Given the description of an element on the screen output the (x, y) to click on. 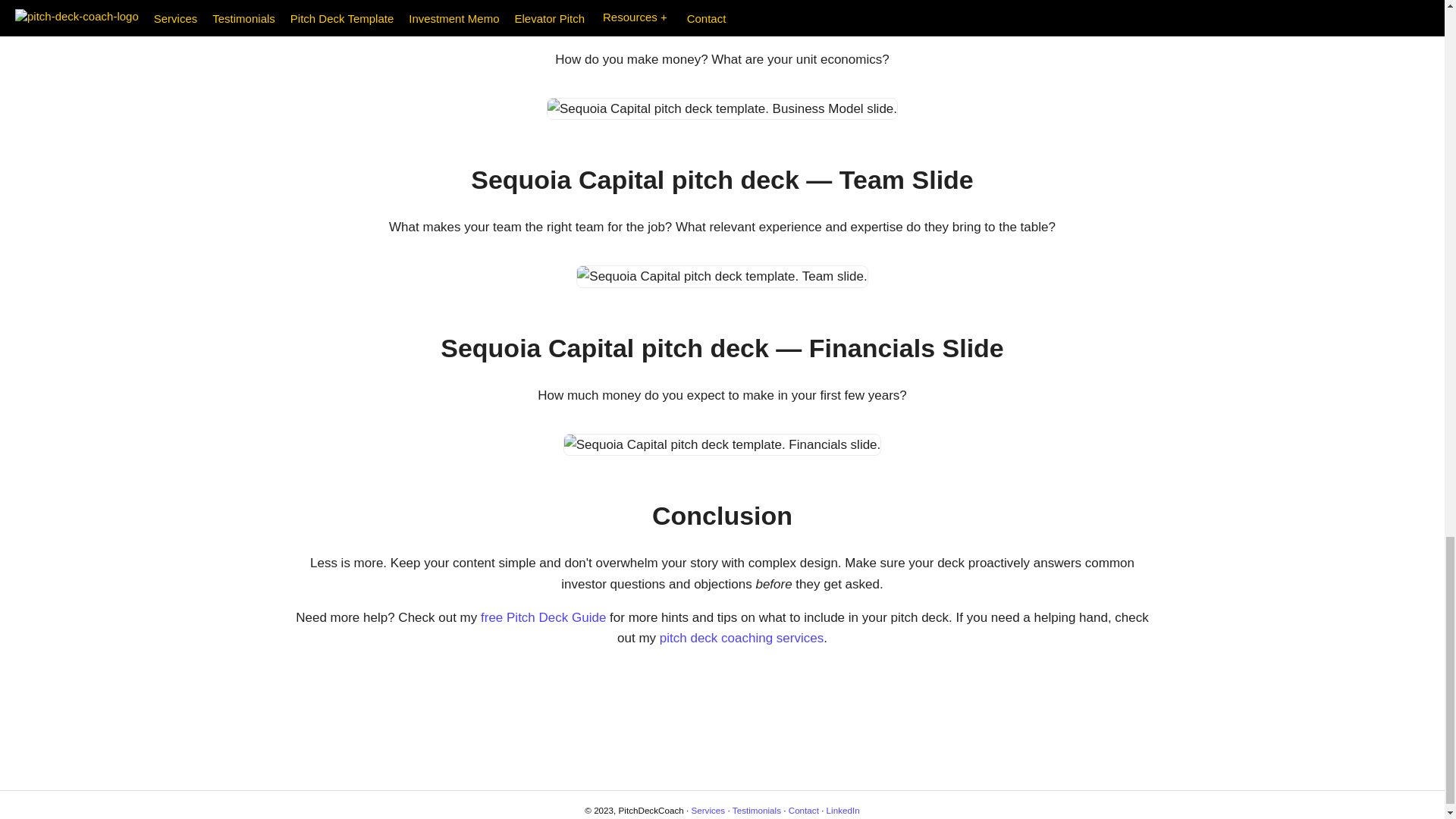
Services (707, 809)
Testimonials (756, 809)
pitch deck coaching services (741, 637)
Contact (803, 809)
free Pitch Deck Guide (542, 617)
LinkedIn (843, 809)
